Given the description of an element on the screen output the (x, y) to click on. 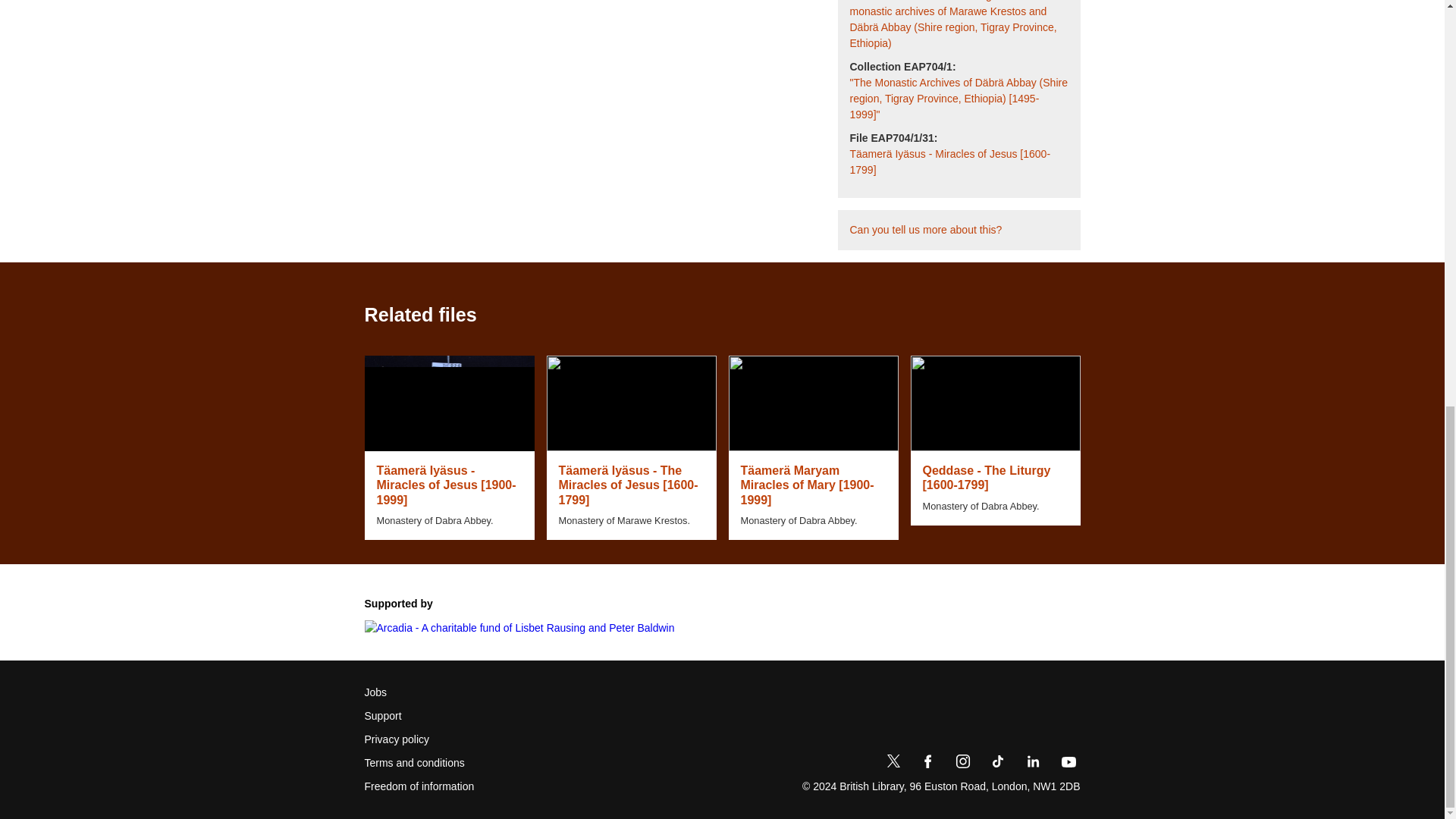
Terms and conditions (414, 763)
Support (382, 715)
Privacy policy (396, 739)
Can you tell us more about this? (924, 229)
Jobs (375, 692)
Freedom of information (419, 786)
